Given the description of an element on the screen output the (x, y) to click on. 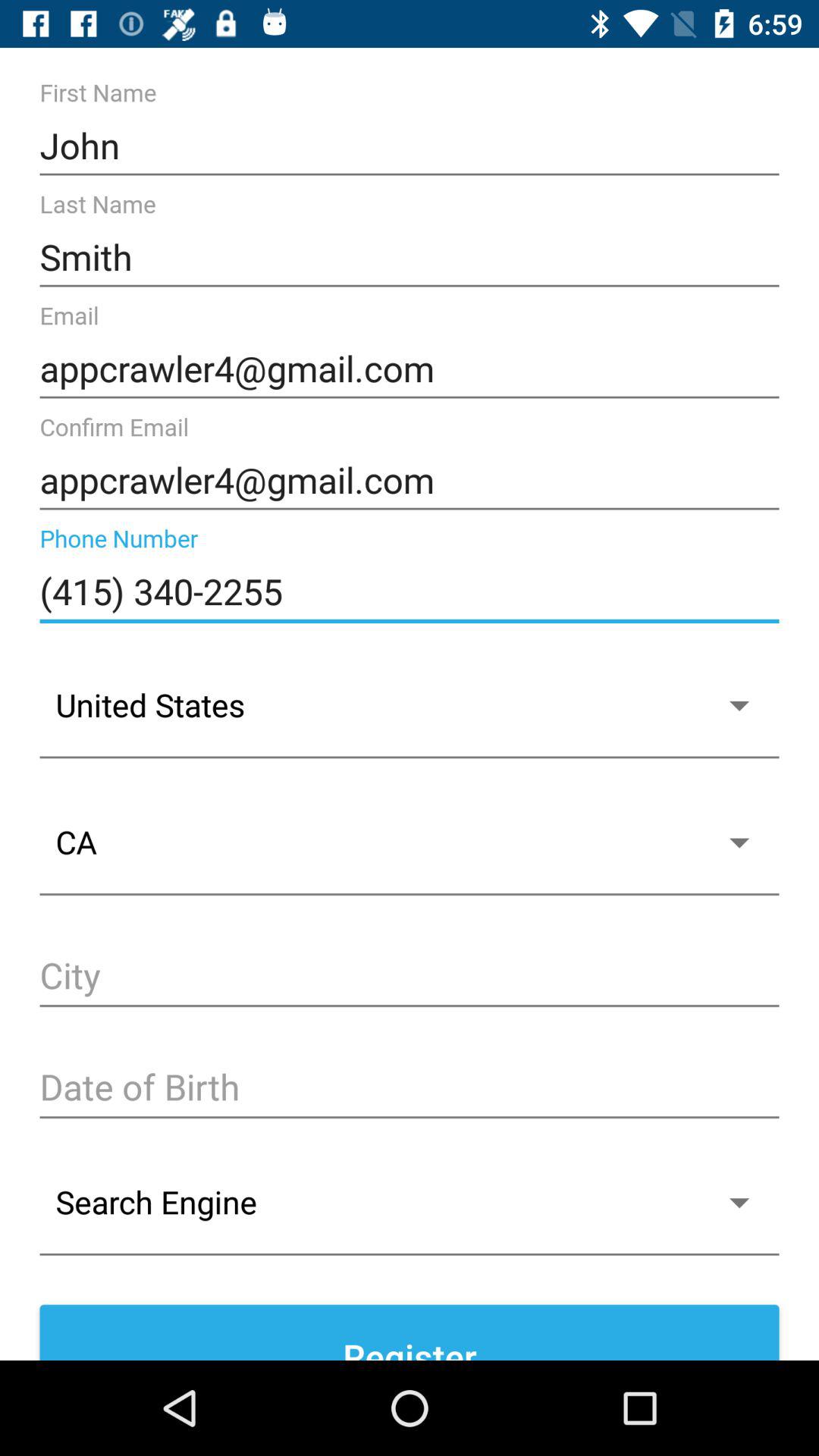
enter date (409, 1089)
